Given the description of an element on the screen output the (x, y) to click on. 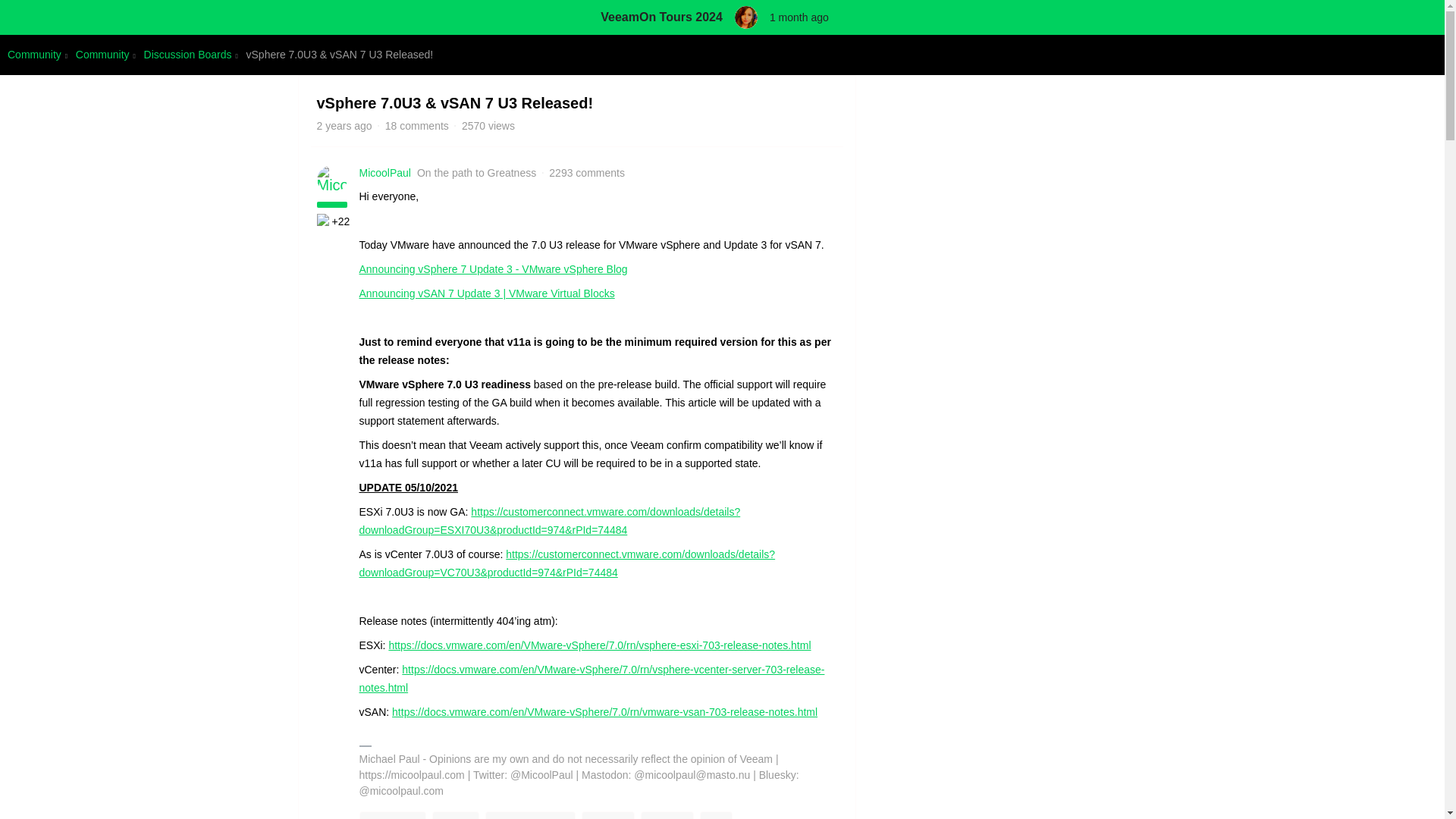
Community (34, 54)
Vsphere (607, 815)
Community (392, 815)
V100 Show Presenter (324, 221)
MicoolPaul (384, 172)
Discussion Boards (187, 54)
VMware (666, 815)
Community (102, 54)
18 comments (416, 125)
Veeam (455, 815)
V11 (716, 815)
Announcing vSphere 7 Update 3 - VMware vSphere Blog (493, 268)
Veeam Legends (529, 815)
MicoolPaul (384, 172)
